Given the description of an element on the screen output the (x, y) to click on. 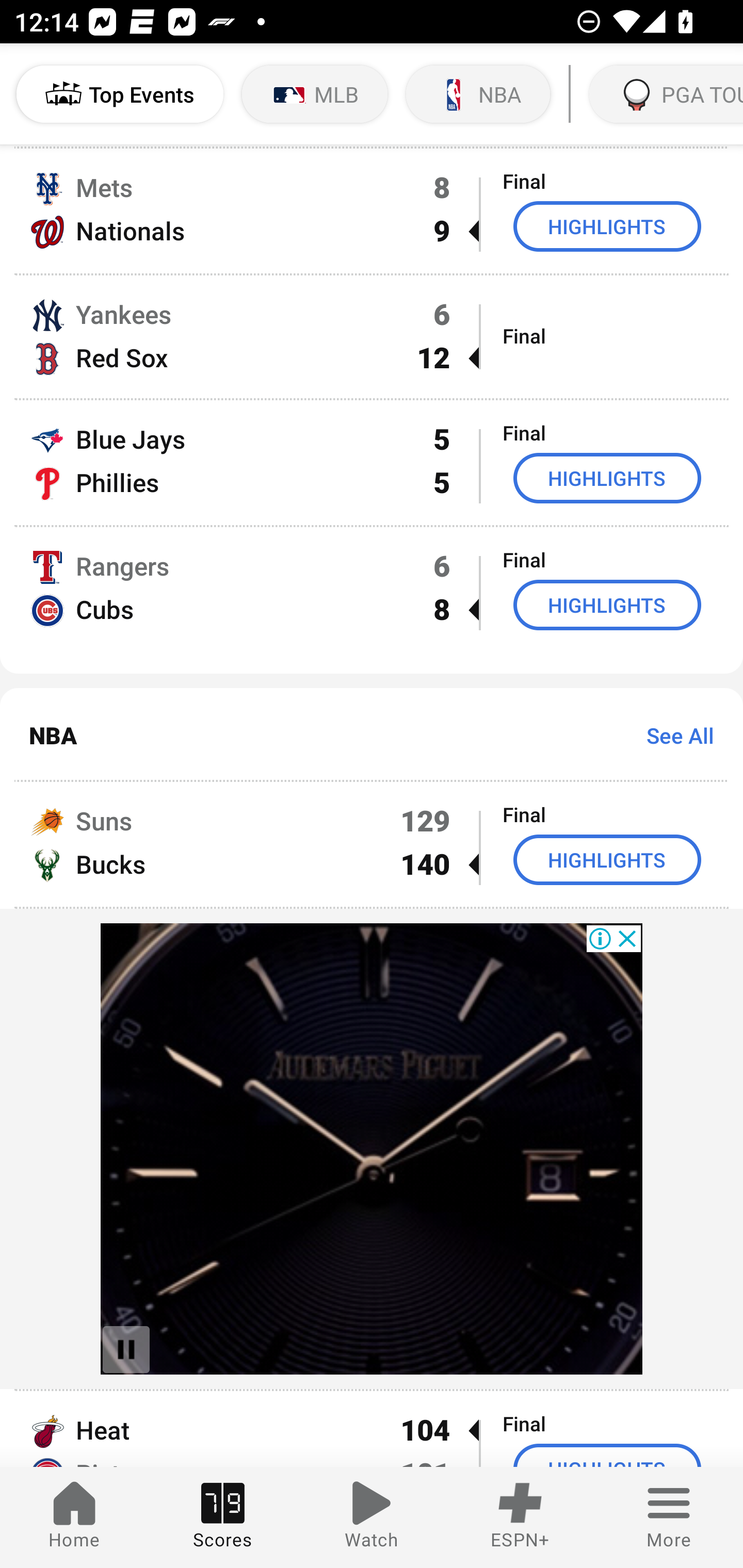
 Top Events (119, 93)
MLB (314, 93)
NBA (477, 93)
PGA TOUR (664, 93)
Mets 8 Final Nationals 9  HIGHLIGHTS (371, 210)
HIGHLIGHTS (607, 226)
Yankees 6 Red Sox 12  Final (371, 336)
Blue Jays 5 Final Phillies 5 HIGHLIGHTS (371, 462)
HIGHLIGHTS (607, 478)
Rangers 6 Final Cubs 8  HIGHLIGHTS (371, 600)
HIGHLIGHTS (607, 605)
NBA See All (371, 735)
See All (673, 735)
Suns 129 Final Bucks 140  HIGHLIGHTS (371, 844)
HIGHLIGHTS (607, 859)
300x250 endframe text (371, 1149)
Home (74, 1517)
Watch (371, 1517)
ESPN+ (519, 1517)
More (668, 1517)
